Given the description of an element on the screen output the (x, y) to click on. 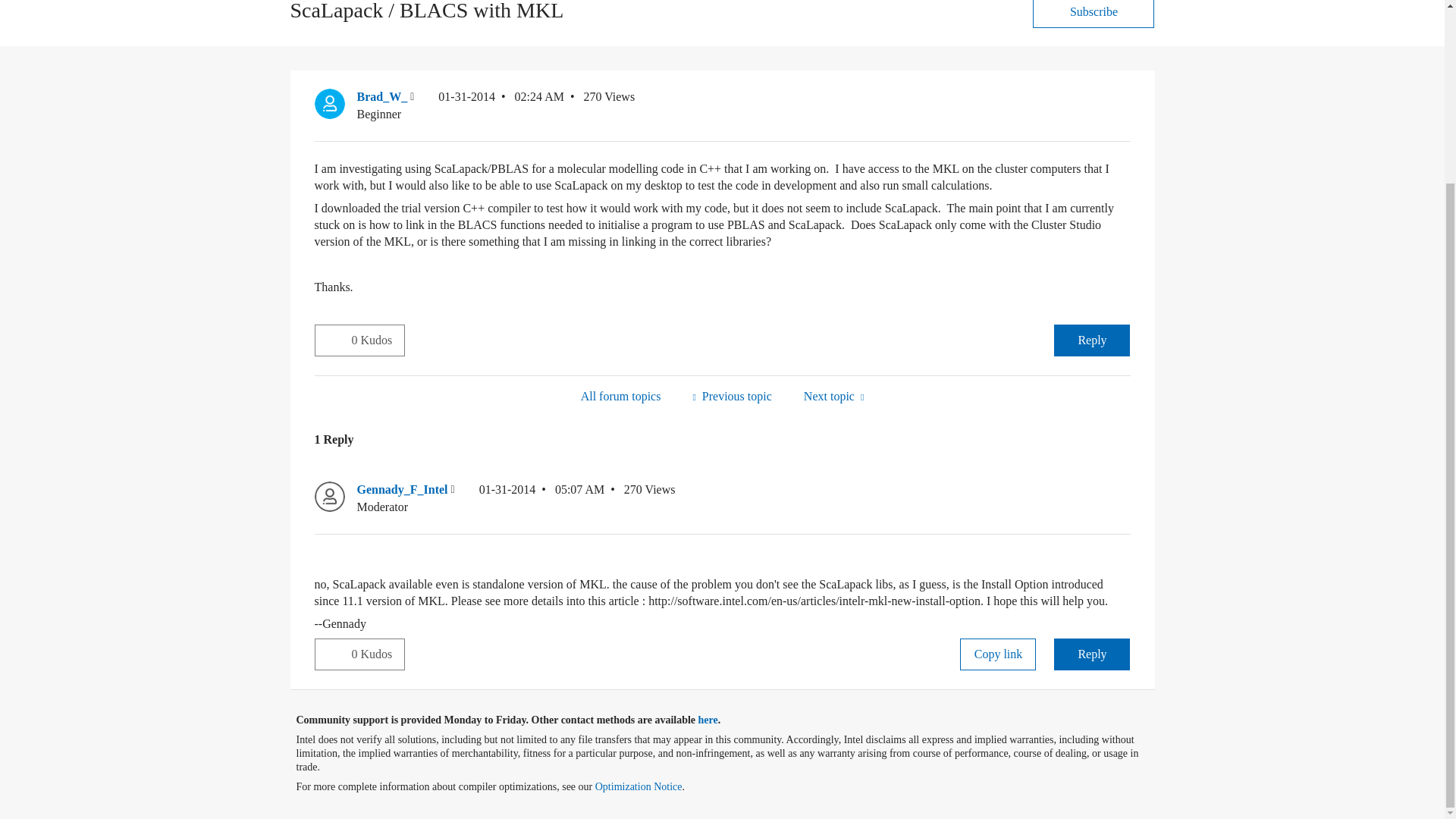
The total number of kudos this post has received. (377, 654)
Click here to give kudos to this post. (332, 339)
Click here to give kudos to this post. (332, 653)
Posted on (501, 105)
Summary statistics and padding (731, 395)
Tridigonal solver, gtsv or pardiso (833, 395)
Posted on (542, 498)
The total number of kudos this post has received. (377, 340)
